Given the description of an element on the screen output the (x, y) to click on. 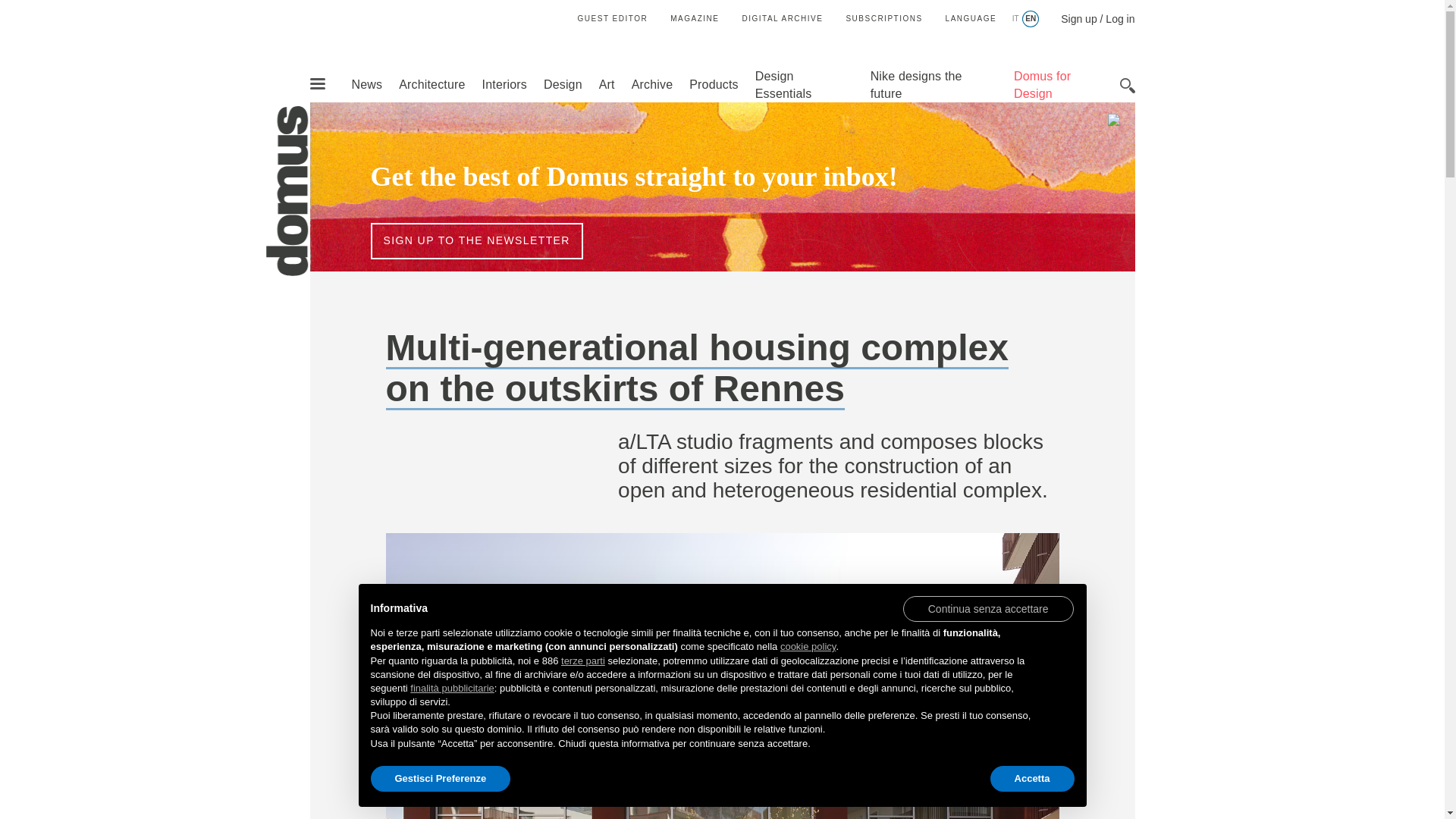
Sign up (1078, 19)
Art (606, 83)
EN (1030, 18)
Archive (651, 83)
GUEST EDITOR (612, 18)
Nike designs the future (916, 84)
SUBSCRIPTIONS (883, 18)
Design (562, 83)
Interiors (504, 83)
Architecture (431, 83)
Products (713, 83)
News (365, 83)
IT (1015, 18)
Log in (1119, 19)
Design Essentials (783, 84)
